Given the description of an element on the screen output the (x, y) to click on. 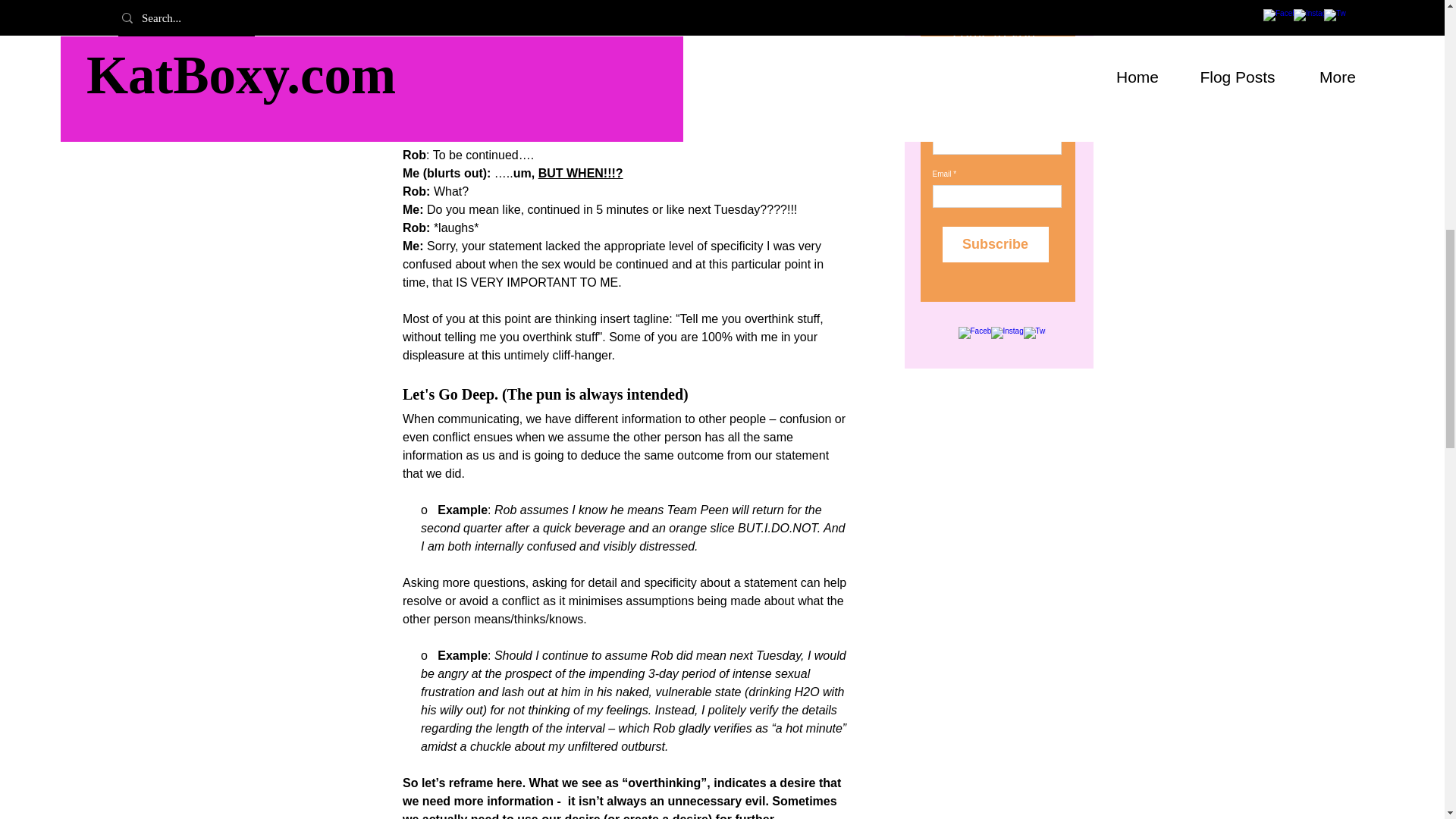
Subscribe (995, 244)
